Given the description of an element on the screen output the (x, y) to click on. 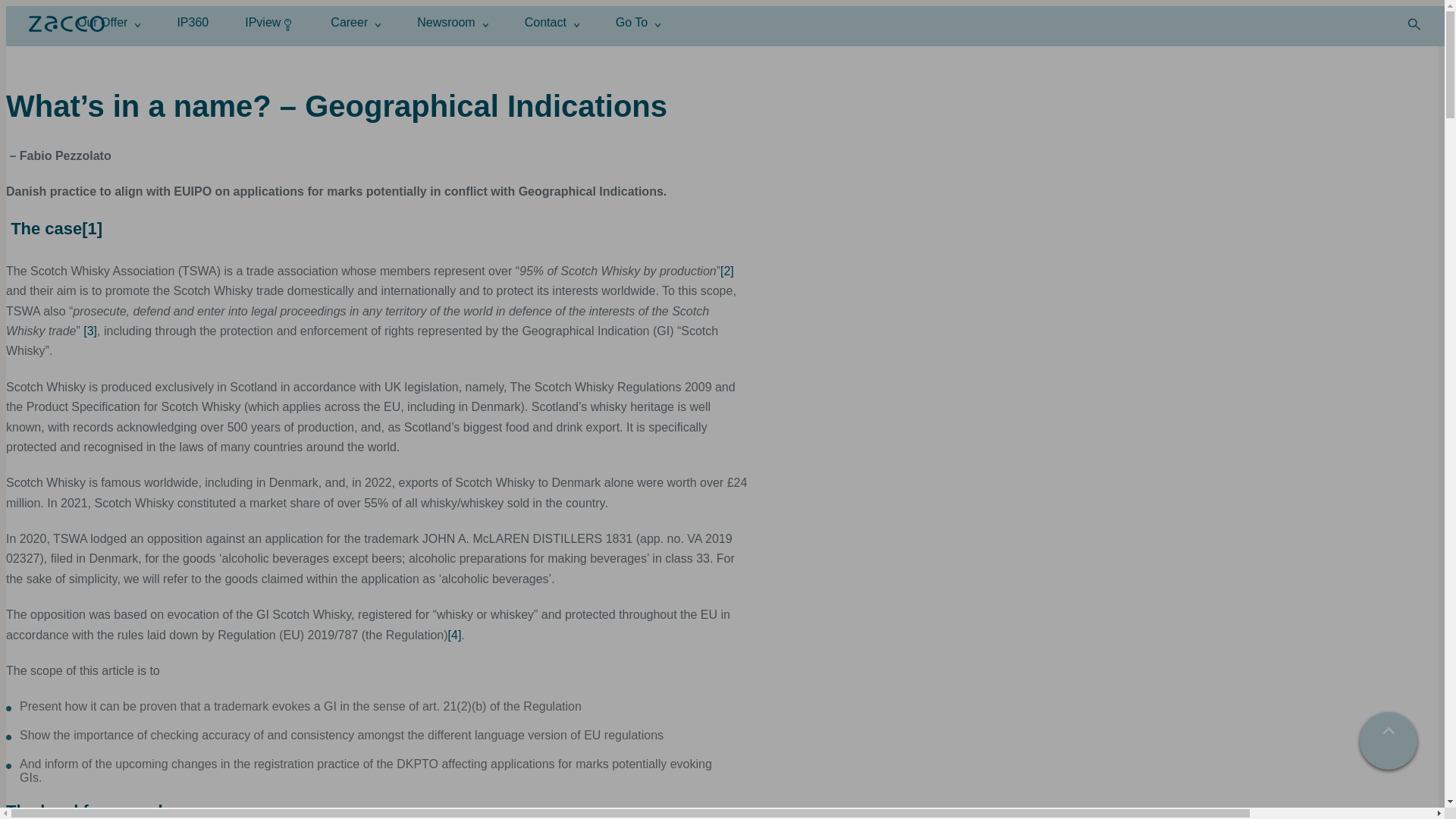
Career (355, 21)
IP360 (192, 21)
Newsroom (451, 21)
Our Offer (108, 21)
Contact (551, 21)
IPview (269, 21)
Go To (638, 21)
